Given the description of an element on the screen output the (x, y) to click on. 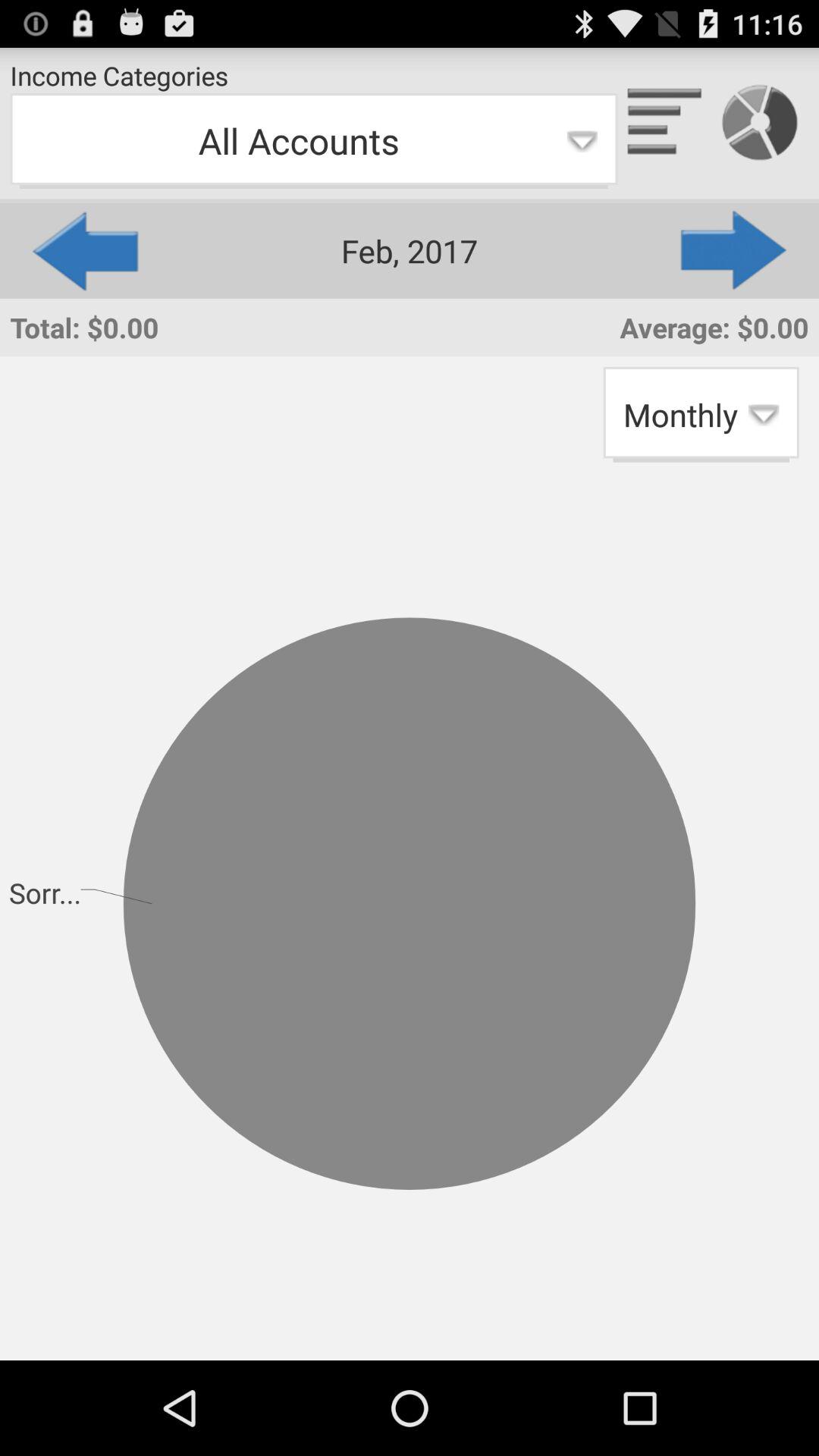
click app next to the total: $0.00 item (701, 414)
